Given the description of an element on the screen output the (x, y) to click on. 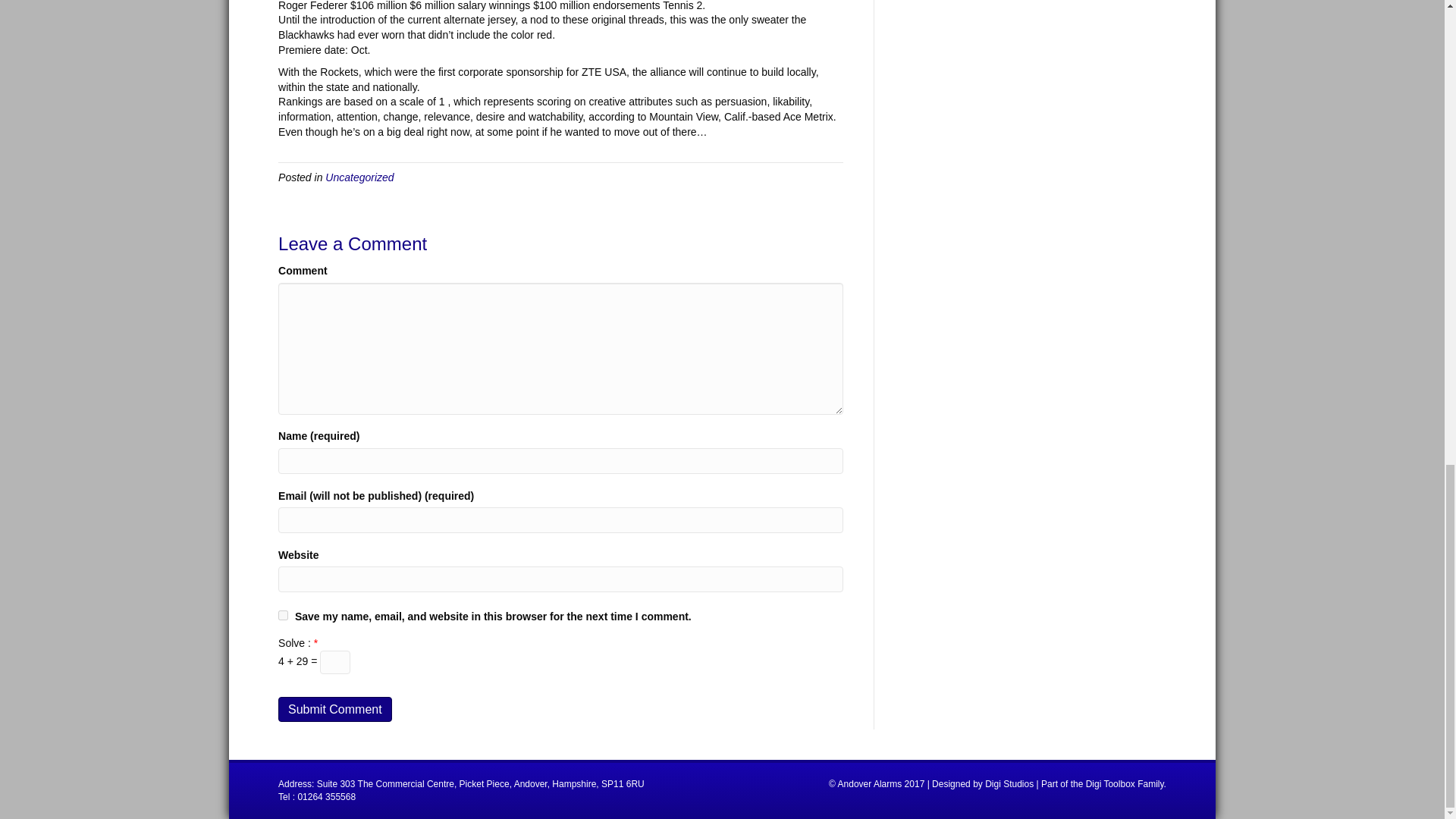
Submit Comment (334, 708)
Submit Comment (334, 708)
yes (283, 614)
Uncategorized (358, 177)
Digi Studios (1009, 783)
Digi Toolbox (1110, 783)
